Given the description of an element on the screen output the (x, y) to click on. 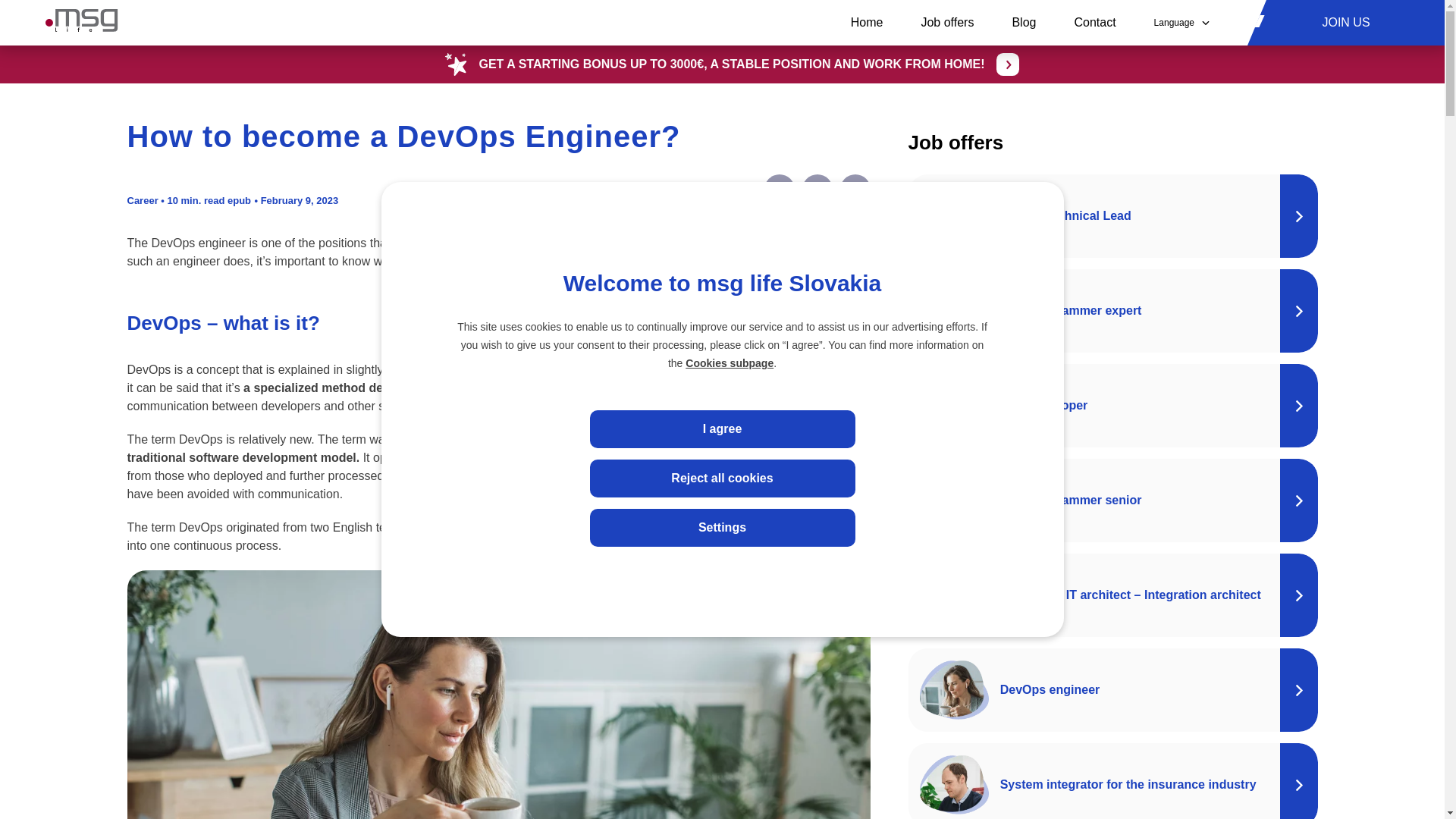
Project Technical Lead (1112, 215)
Language (1181, 22)
Java programmer senior (1112, 500)
Java programmer expert (1112, 310)
Job offers (947, 22)
Java developer (1112, 405)
DevOps engineer (1112, 690)
Contact (1094, 22)
